Given the description of an element on the screen output the (x, y) to click on. 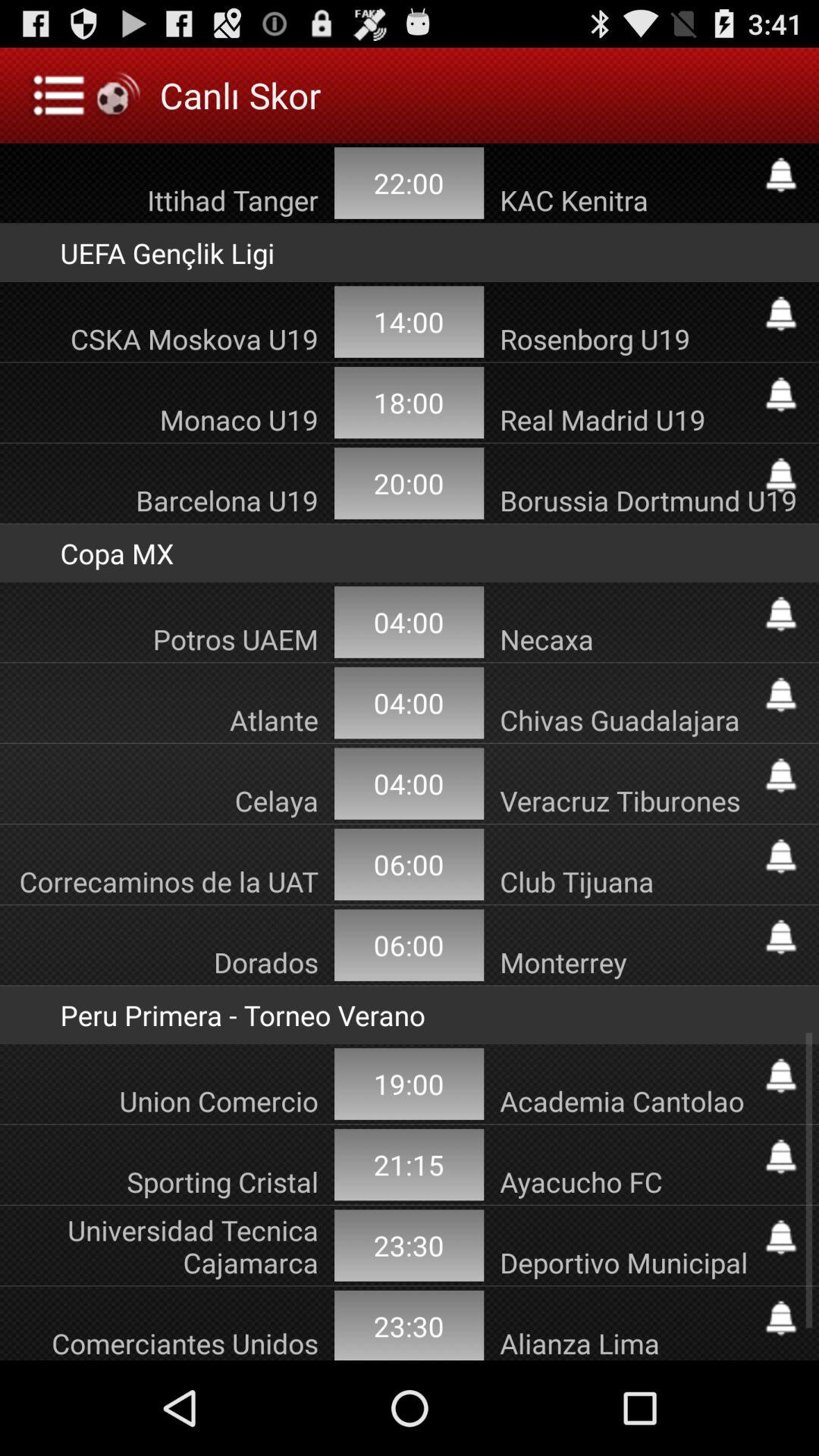
toggle alarm option (780, 1156)
